Given the description of an element on the screen output the (x, y) to click on. 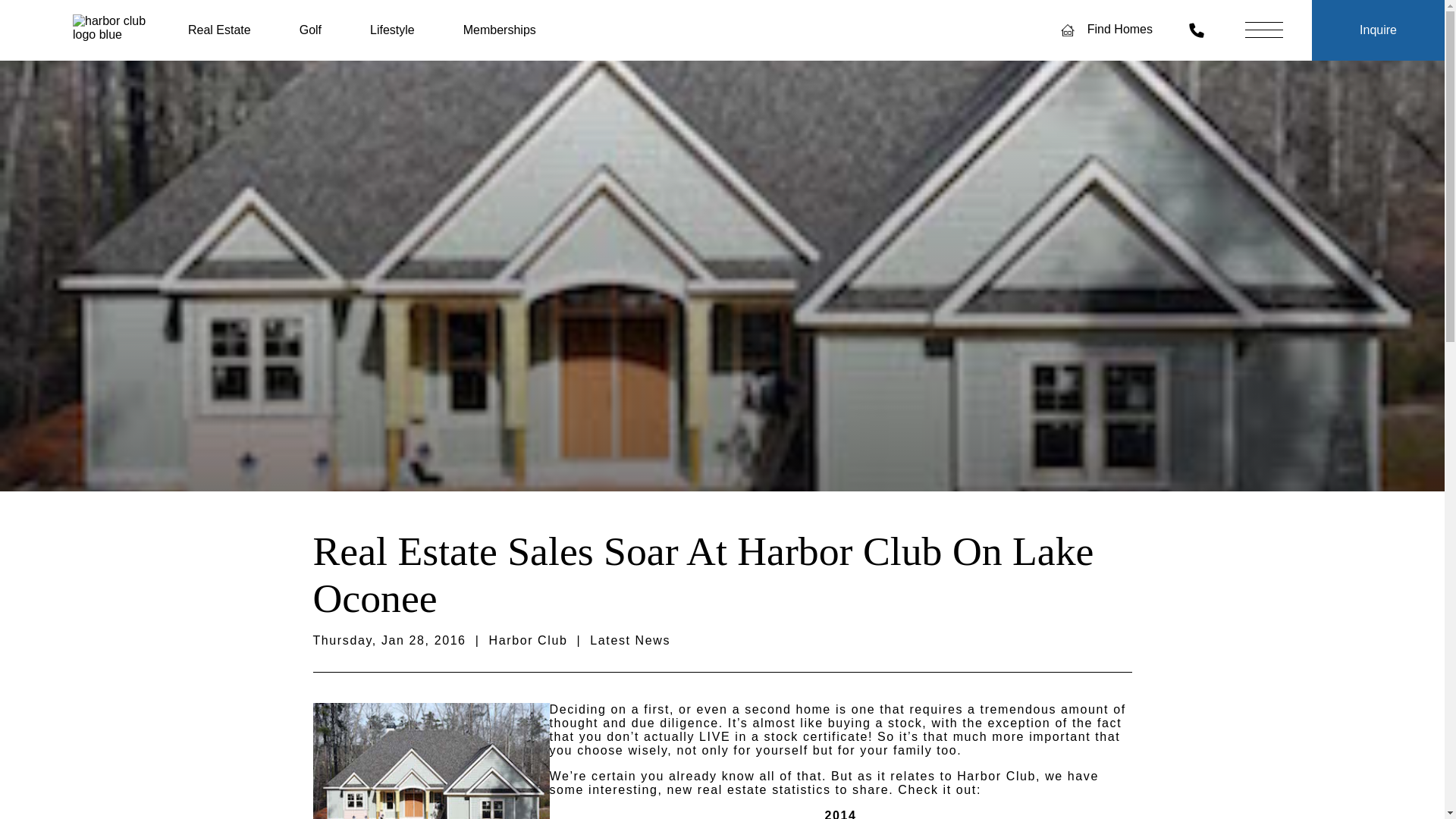
Find Homes (1106, 29)
Golf (310, 29)
Real Estate (218, 29)
Lifestyle (391, 29)
Memberships (499, 29)
